Given the description of an element on the screen output the (x, y) to click on. 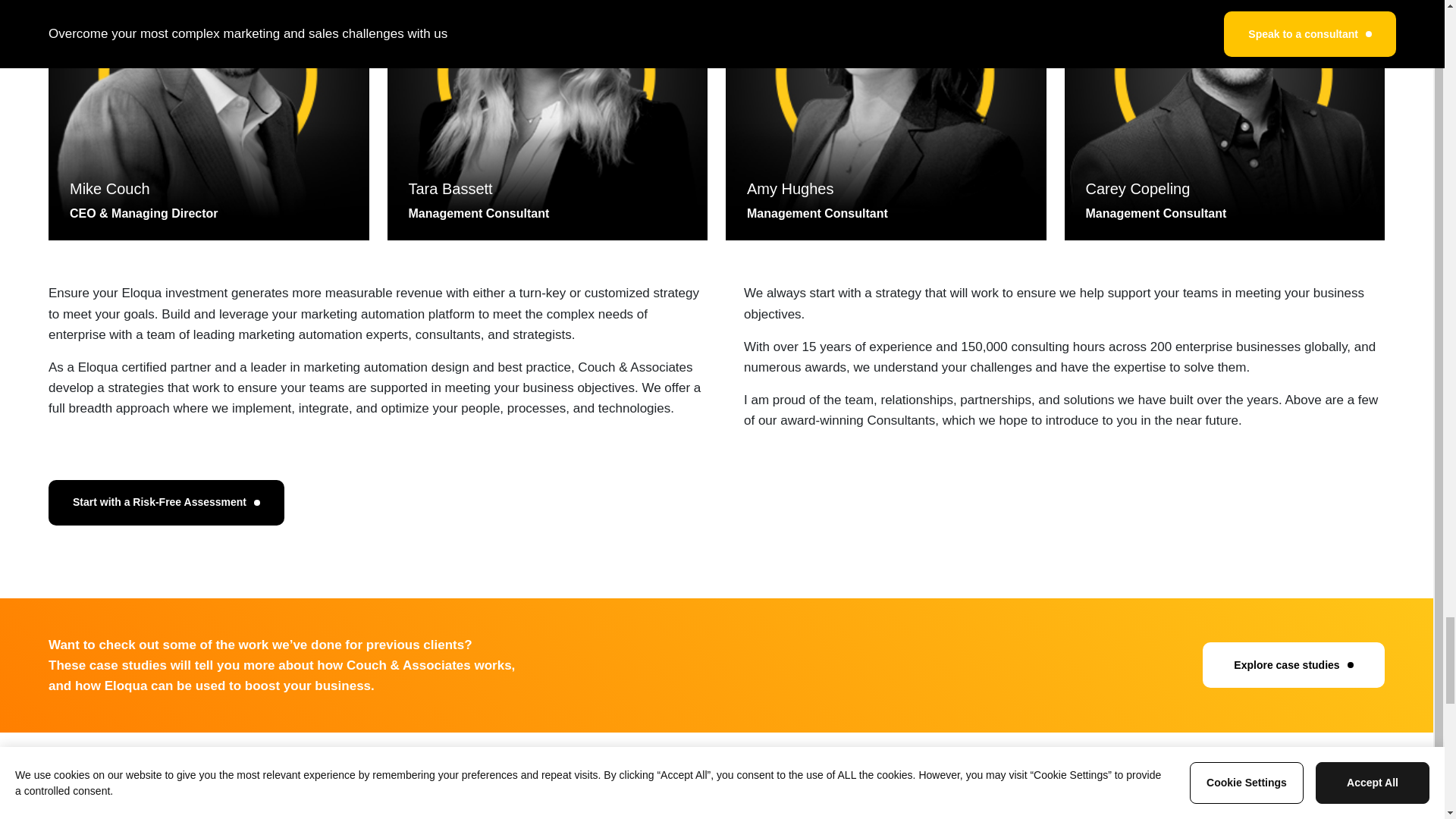
Explore case studies (1293, 664)
Start with a Risk-Free Assessment (165, 502)
